Given the description of an element on the screen output the (x, y) to click on. 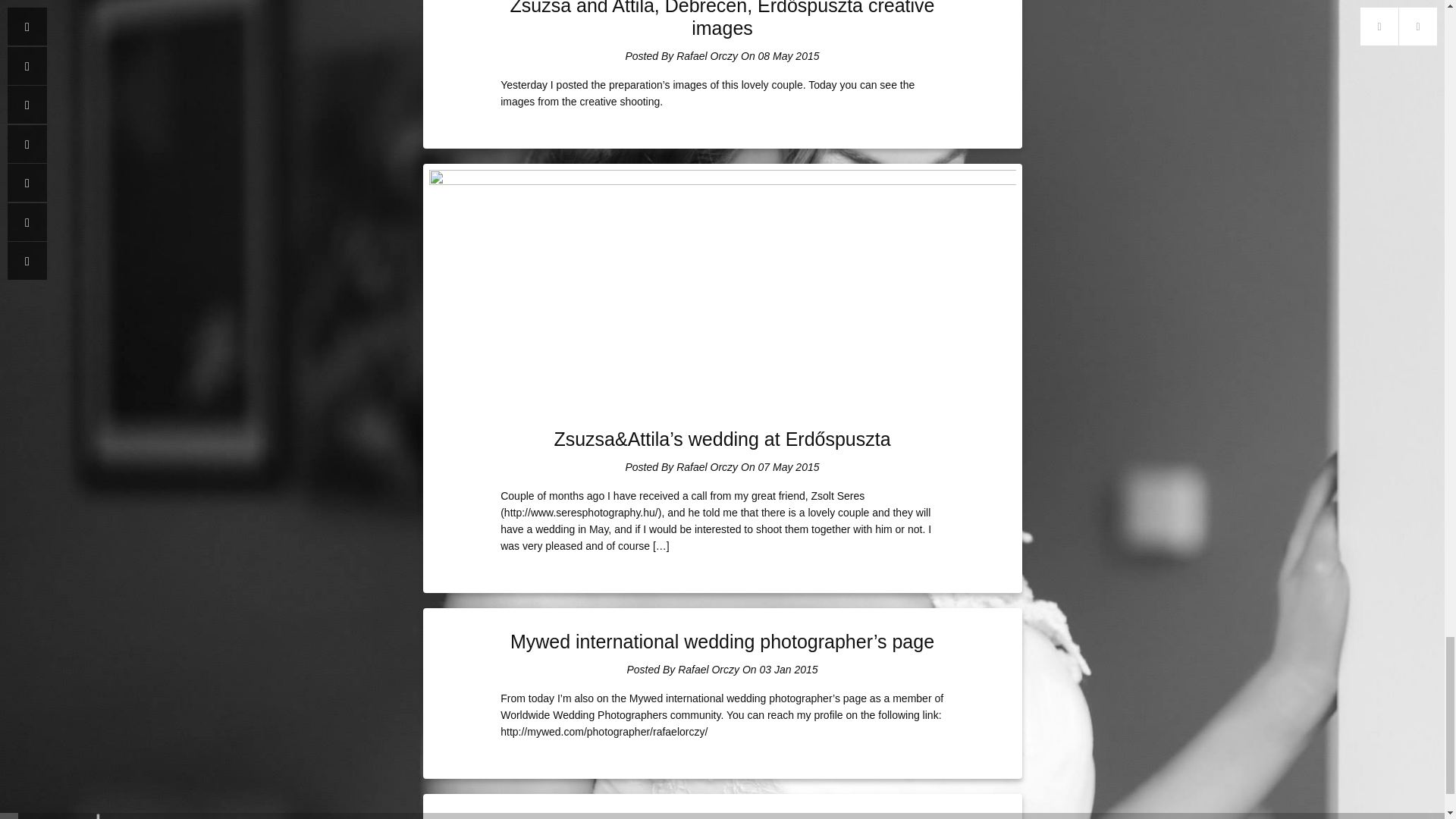
Posts by Rafael Orczy (707, 55)
Rafael Orczy (708, 669)
Rafael Orczy (707, 467)
Posts by Rafael Orczy (707, 467)
Posts by Rafael Orczy (708, 669)
Rafael Orczy (707, 55)
